Given the description of an element on the screen output the (x, y) to click on. 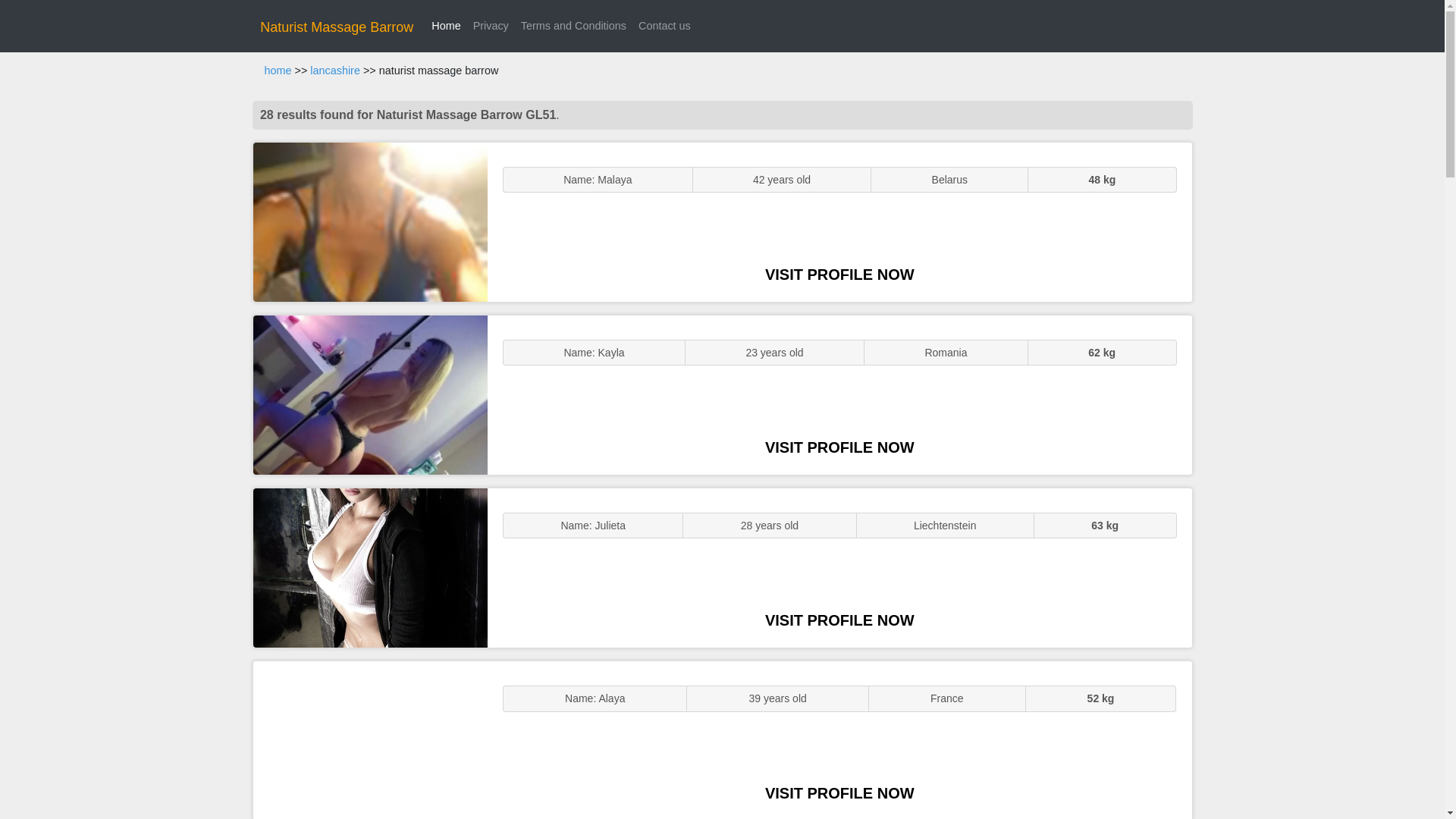
 ENGLISH STUNNER (370, 222)
Contact us (664, 25)
home (277, 70)
Privacy (491, 25)
VISIT PROFILE NOW (839, 619)
Naturist Massage Barrow (336, 27)
Sluts (370, 739)
Sexy (370, 567)
lancashire (334, 70)
GFE (370, 395)
